Given the description of an element on the screen output the (x, y) to click on. 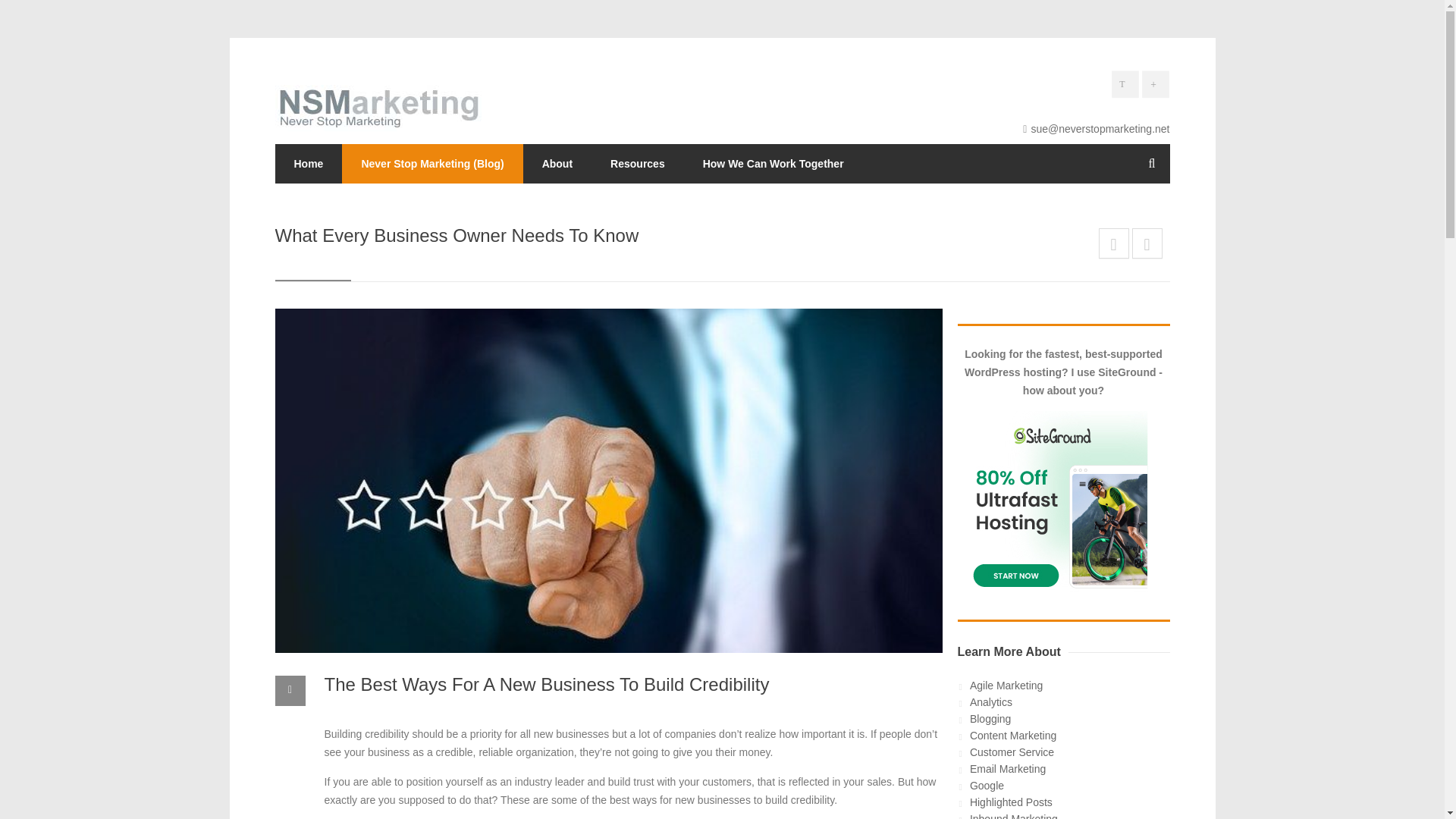
Analytics (990, 702)
How We Can Work Together (773, 163)
Google (986, 785)
The Best Ways For A New Business To Build Credibility (547, 684)
About (556, 163)
Content Marketing (1013, 735)
Resources (637, 163)
Highlighted Posts (1010, 802)
Email Marketing (1007, 768)
